Given the description of an element on the screen output the (x, y) to click on. 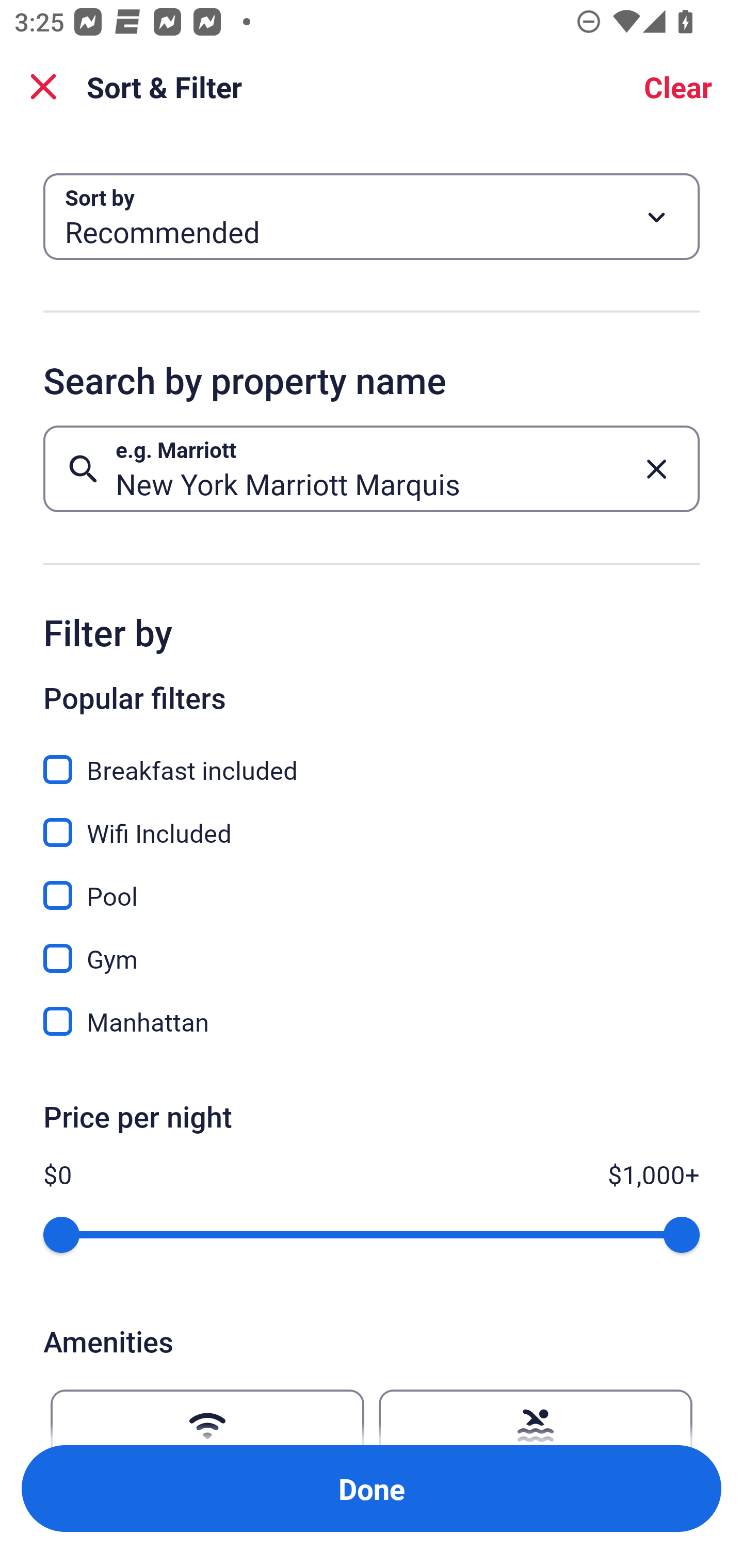
Close Sort and Filter (43, 86)
Clear (677, 86)
Sort by Button Recommended (371, 217)
e.g. Marriott Button New York Marriott Marquis (371, 468)
Breakfast included, Breakfast included (371, 757)
Wifi Included, Wifi Included (371, 821)
Pool, Pool (371, 883)
Gym, Gym (371, 946)
Manhattan, Manhattan (371, 1021)
Apply and close Sort and Filter Done (371, 1488)
